Given the description of an element on the screen output the (x, y) to click on. 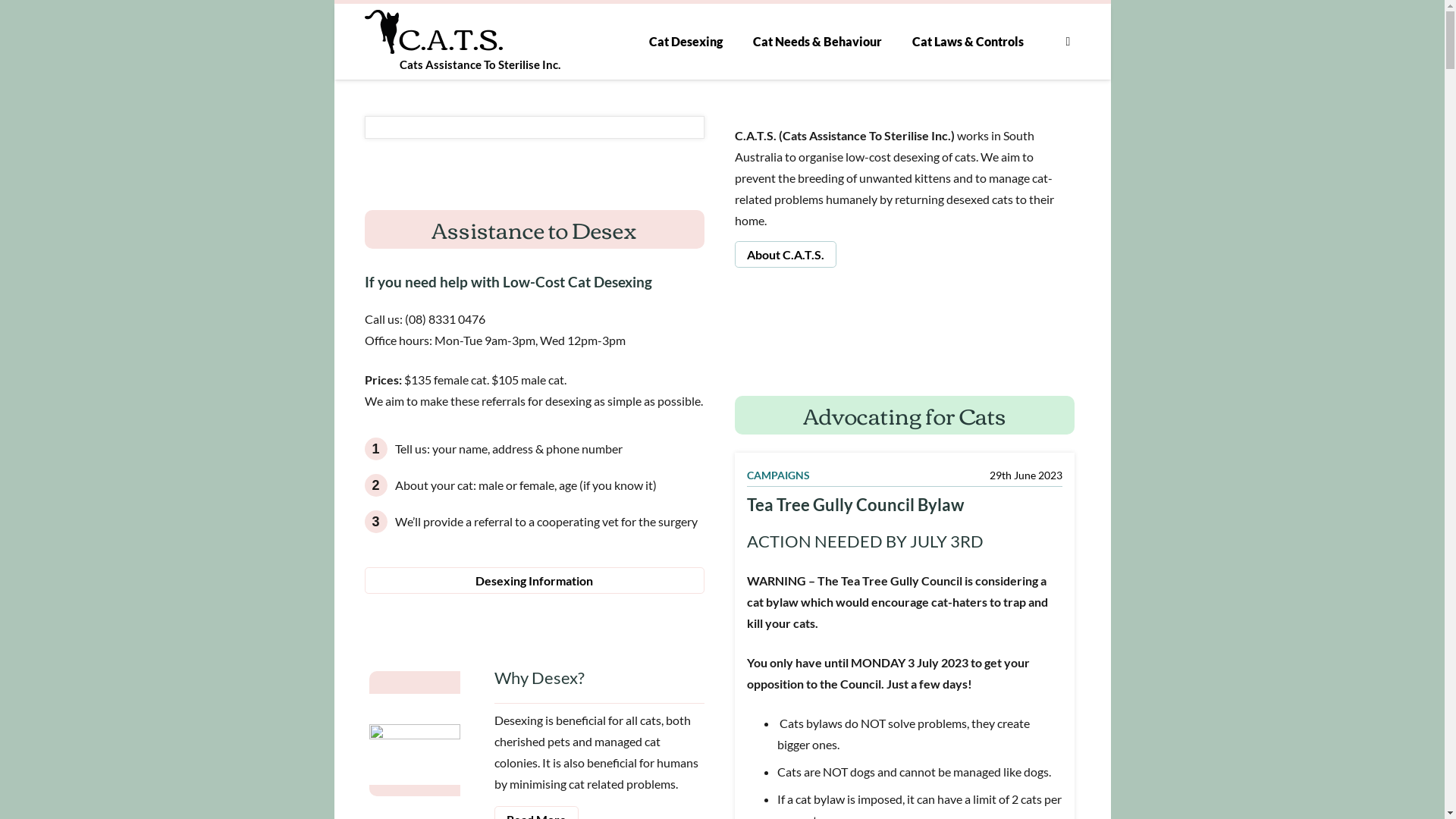
Facebook Element type: hover (1068, 41)
Desexing Information Element type: text (533, 580)
Why Desex? Element type: text (599, 682)
Cat Laws & Controls Element type: text (967, 41)
CAMPAIGNS Element type: text (777, 474)
C.A.T.S.
Cats Assistance To Sterilise Inc. Element type: text (444, 59)
Tea Tree Gully Council Bylaw Element type: text (854, 504)
About C.A.T.S. Element type: text (784, 254)
Why desexing is essential Element type: hover (428, 733)
Cat Desexing Element type: text (685, 41)
Cat Needs & Behaviour Element type: text (817, 41)
